Given the description of an element on the screen output the (x, y) to click on. 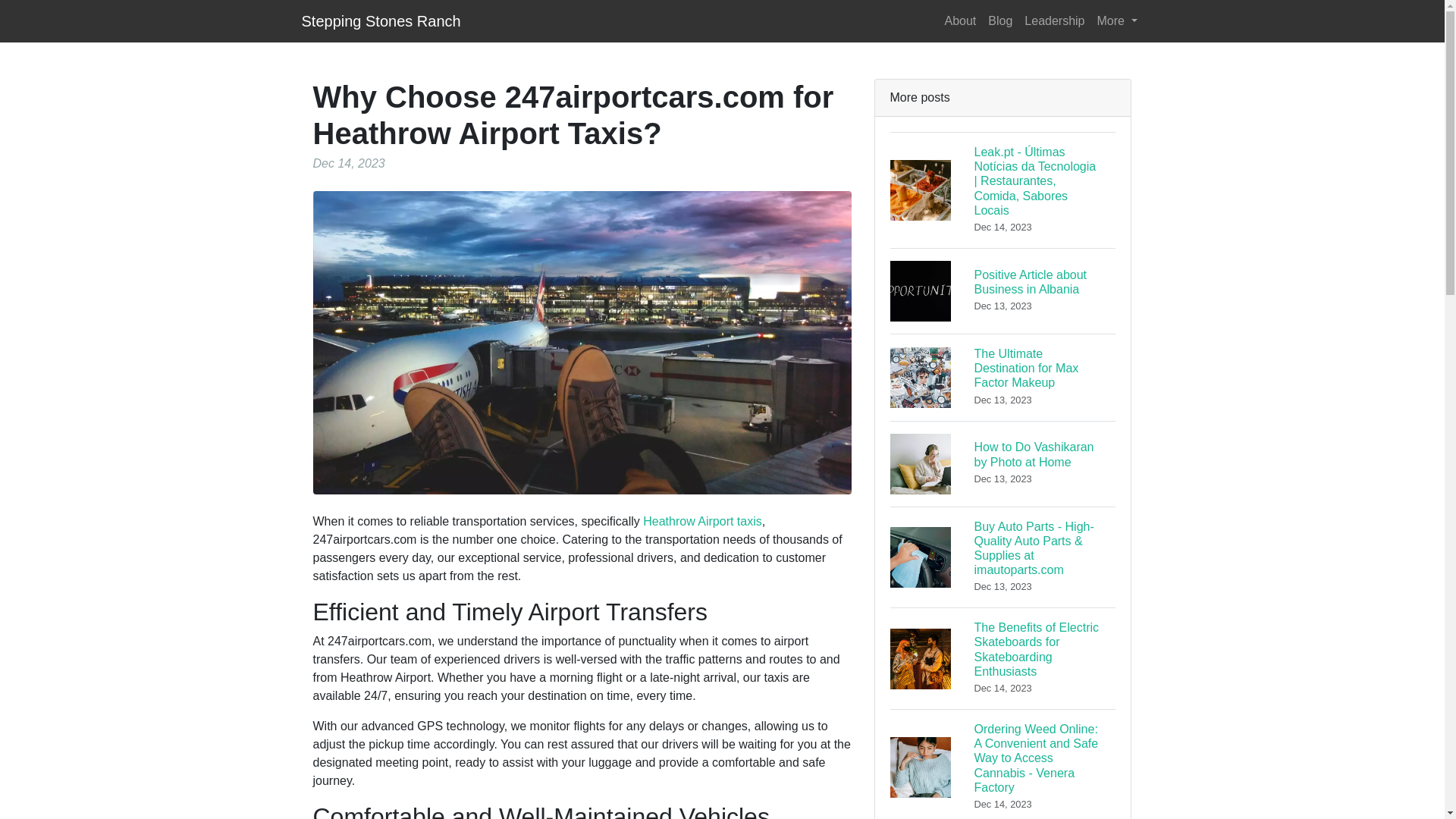
Blog (999, 20)
About (960, 20)
More (1002, 463)
Leadership (1116, 20)
Heathrow Airport taxis (1053, 20)
Stepping Stones Ranch (702, 521)
